Given the description of an element on the screen output the (x, y) to click on. 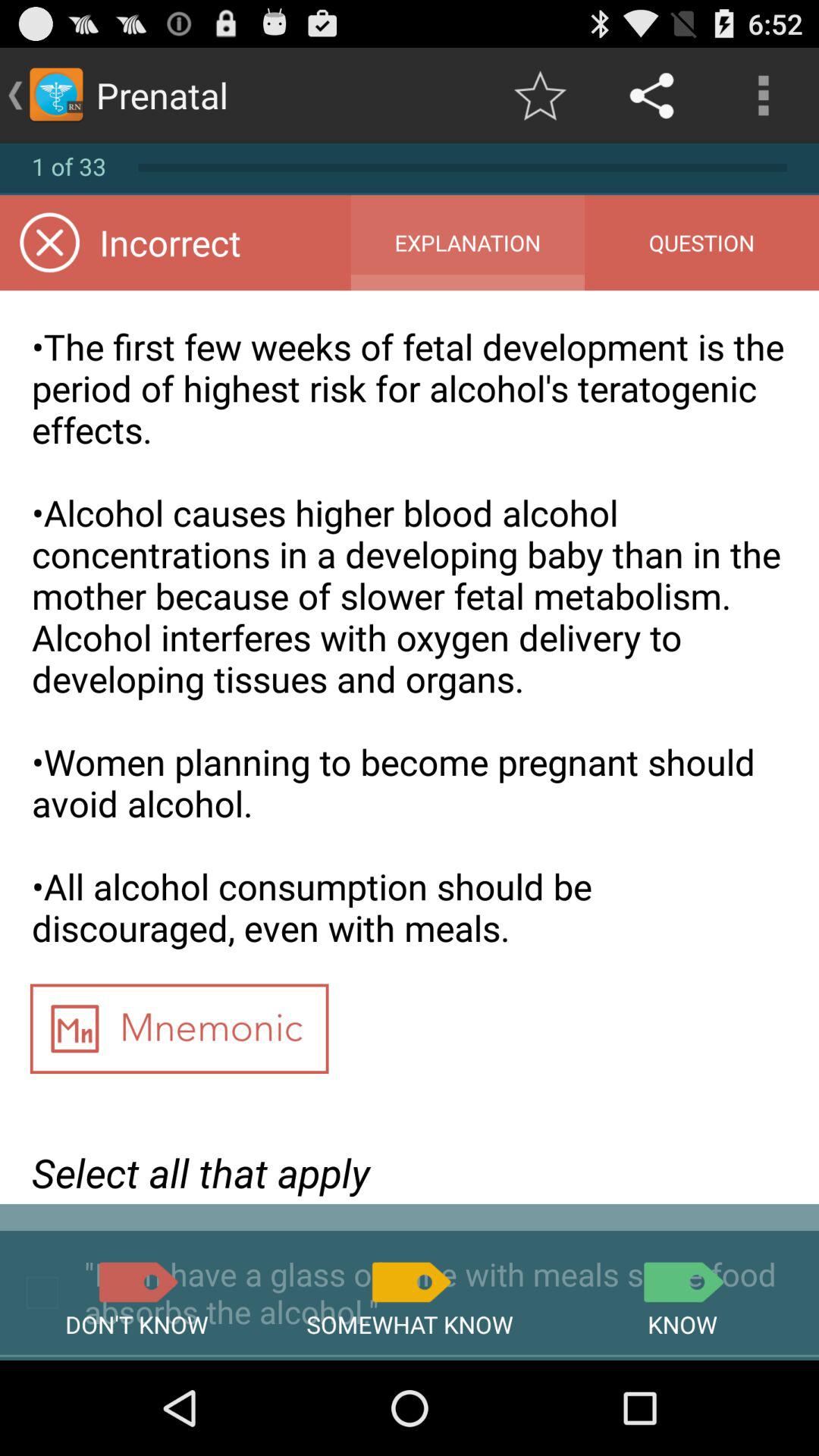
select know (682, 1281)
